Given the description of an element on the screen output the (x, y) to click on. 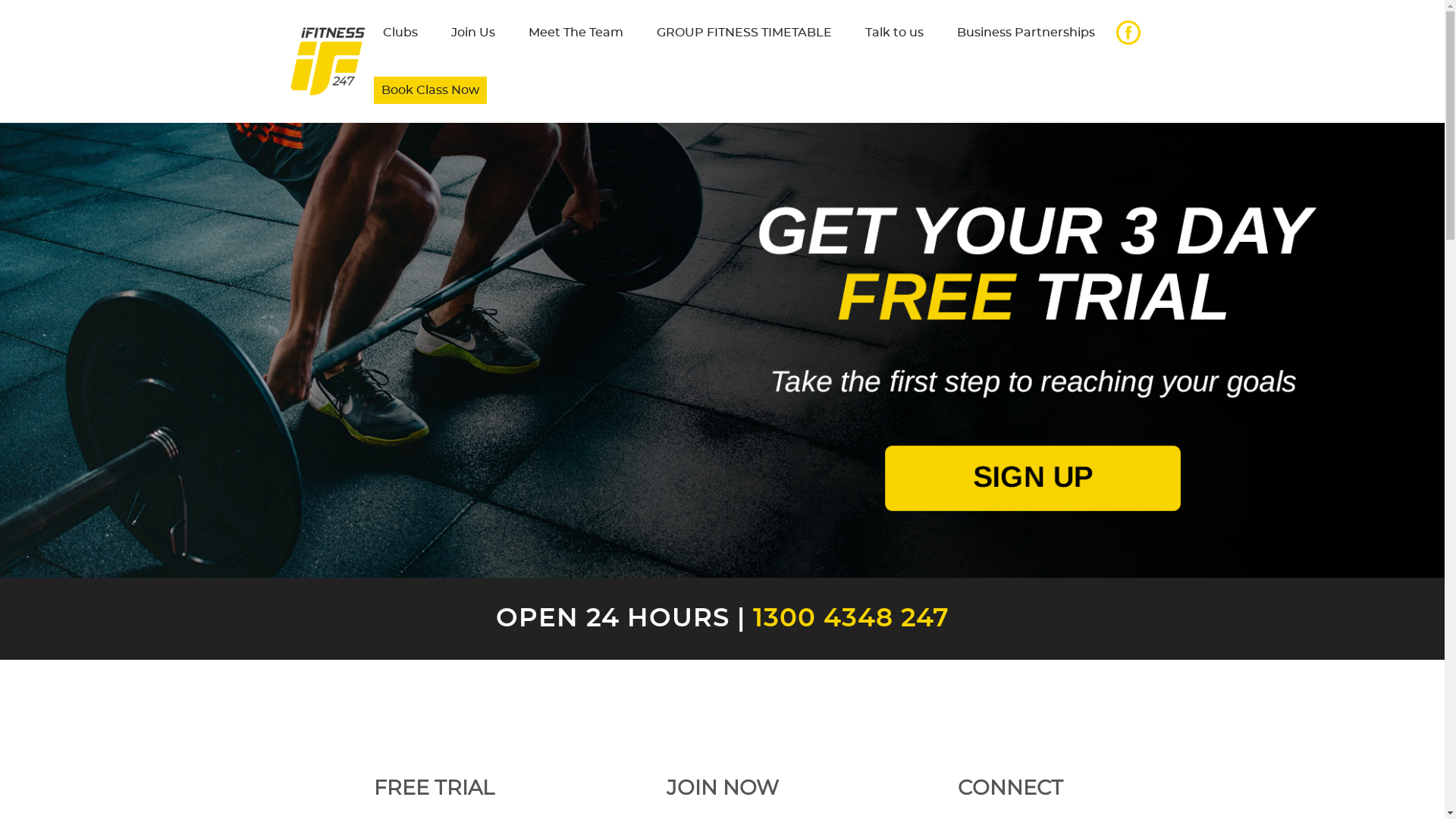
Facebook Element type: text (1128, 32)
Business Partnerships Element type: text (1025, 32)
Book Class Now Element type: text (429, 89)
Join Us Element type: text (472, 32)
iFitness 24/7 Element type: hover (327, 61)
Talk to us Element type: text (893, 32)
1300 4348 Element type: text (822, 618)
Clubs Element type: text (399, 32)
FREE TRIAL Element type: text (433, 776)
CONNECT Element type: text (1010, 776)
247 Element type: text (921, 618)
JOIN NOW Element type: text (721, 776)
Meet The Team Element type: text (575, 32)
GROUP FITNESS TIMETABLE Element type: text (744, 32)
